Given the description of an element on the screen output the (x, y) to click on. 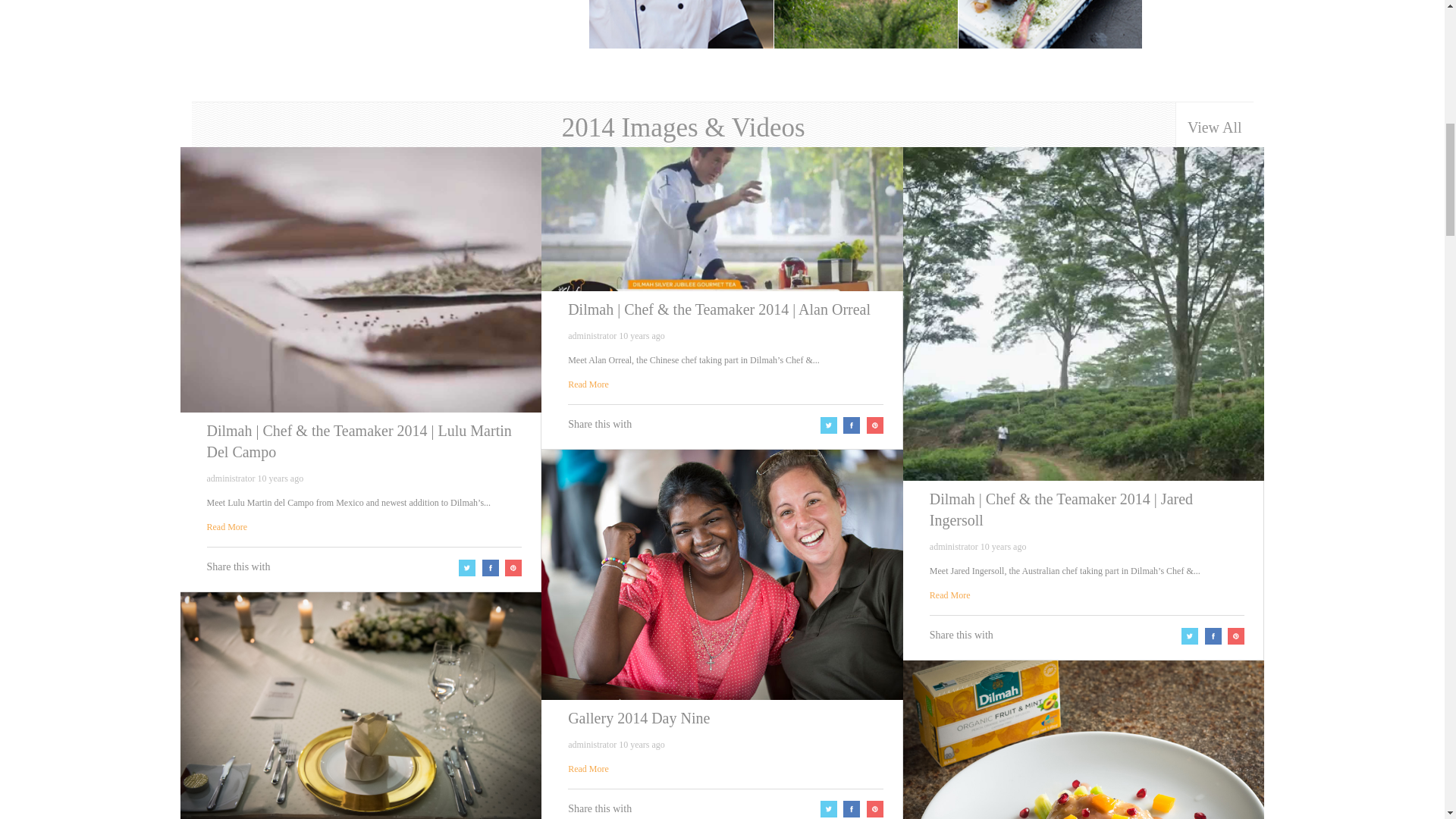
View All (1213, 124)
Read More (587, 768)
Read more about Gallery 2014 Day Nine (587, 768)
Read More (226, 526)
2014 Images and Videos (1213, 124)
Read more about Gallery 2014 Day Ten (360, 705)
Read more about Gallery 2014 Day Nine (721, 574)
Read More (587, 384)
